Given the description of an element on the screen output the (x, y) to click on. 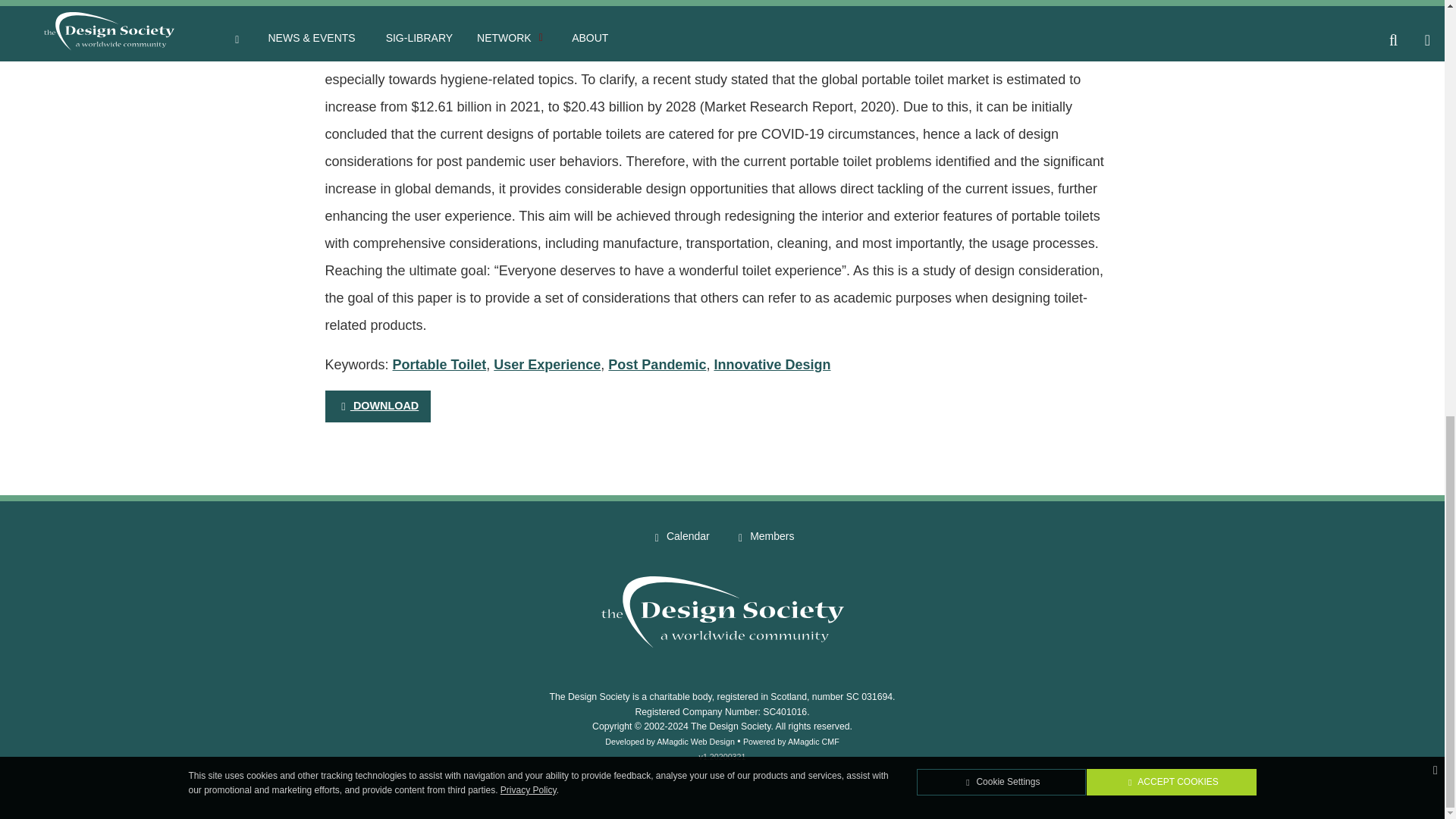
DOWNLOAD (376, 406)
Innovative Design (771, 364)
Calendar (680, 537)
User Experience (546, 364)
Powered by AMagdic CMF (791, 741)
Portable Toilet (439, 364)
Members (764, 537)
Post Pandemic (657, 364)
The Design Society (730, 726)
Developed by AMagdic Web Design (670, 741)
